Given the description of an element on the screen output the (x, y) to click on. 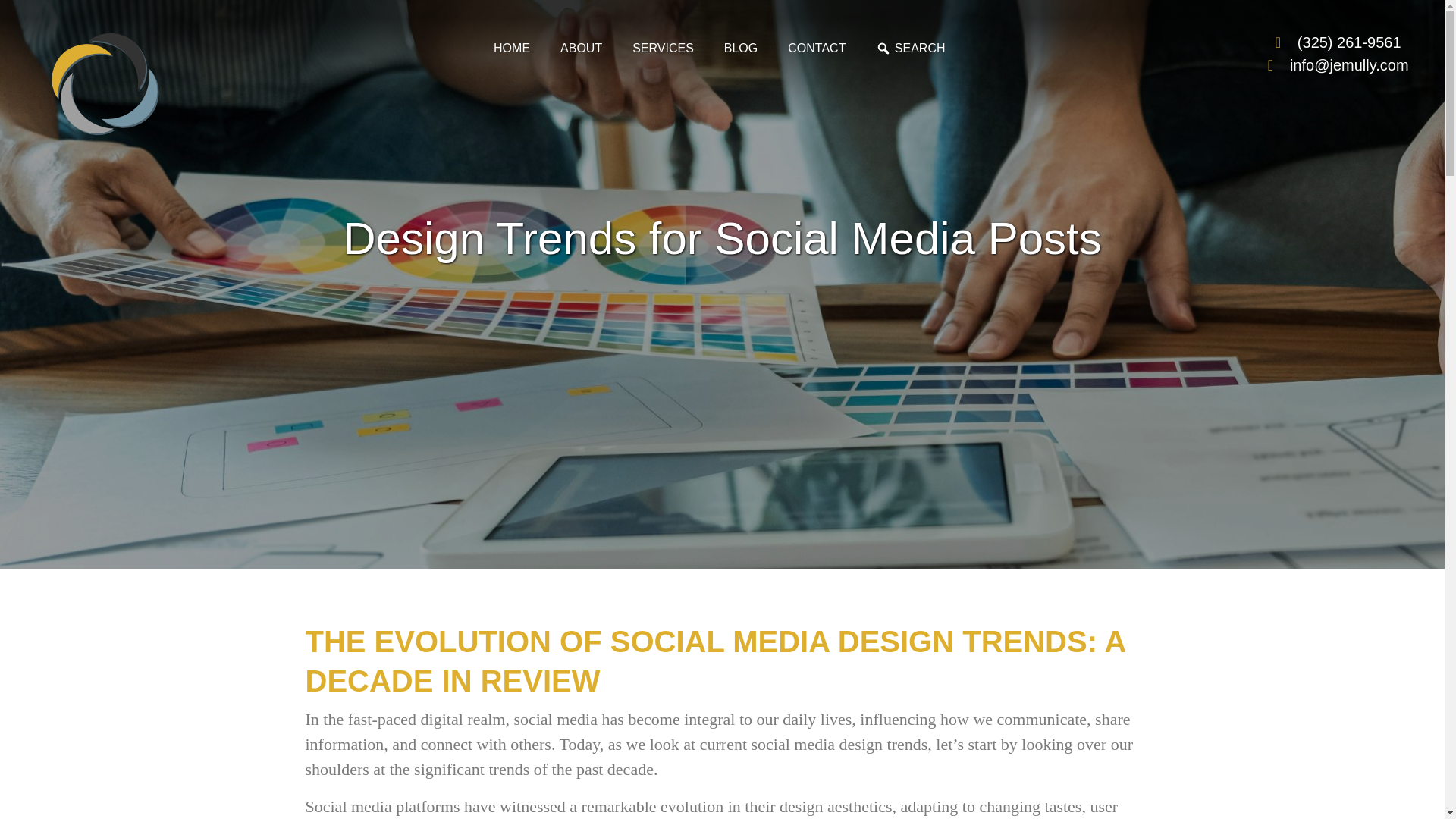
ABOUT (580, 48)
 SEARCH (909, 48)
CONTACT (816, 48)
HOME (511, 48)
SERVICES (663, 48)
BLOG (741, 48)
